Given the description of an element on the screen output the (x, y) to click on. 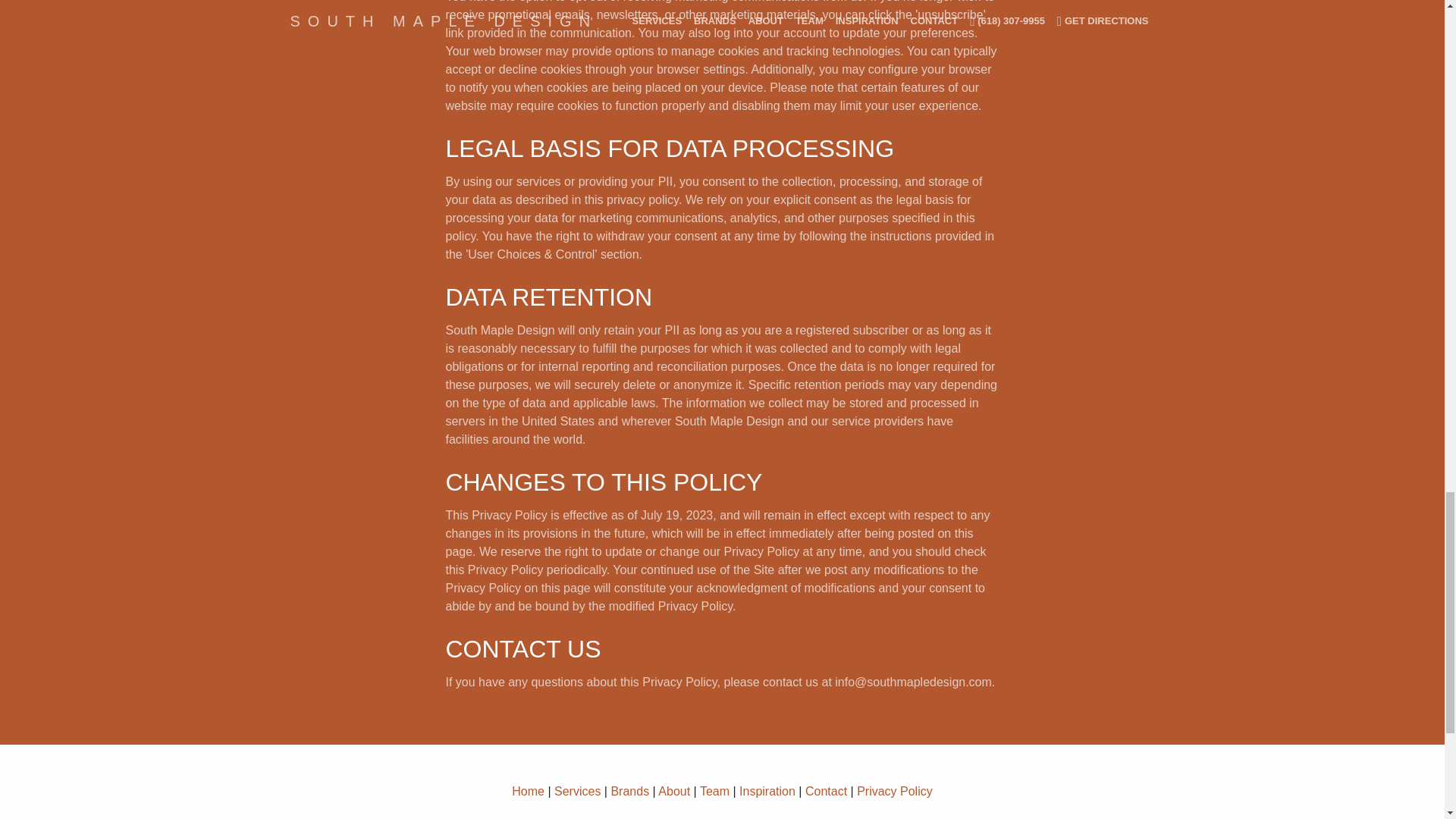
Home (528, 790)
Team (714, 790)
Brands (629, 790)
About (674, 790)
Inspiration (766, 790)
Privacy Policy (895, 790)
Contact (826, 790)
Services (576, 790)
